Given the description of an element on the screen output the (x, y) to click on. 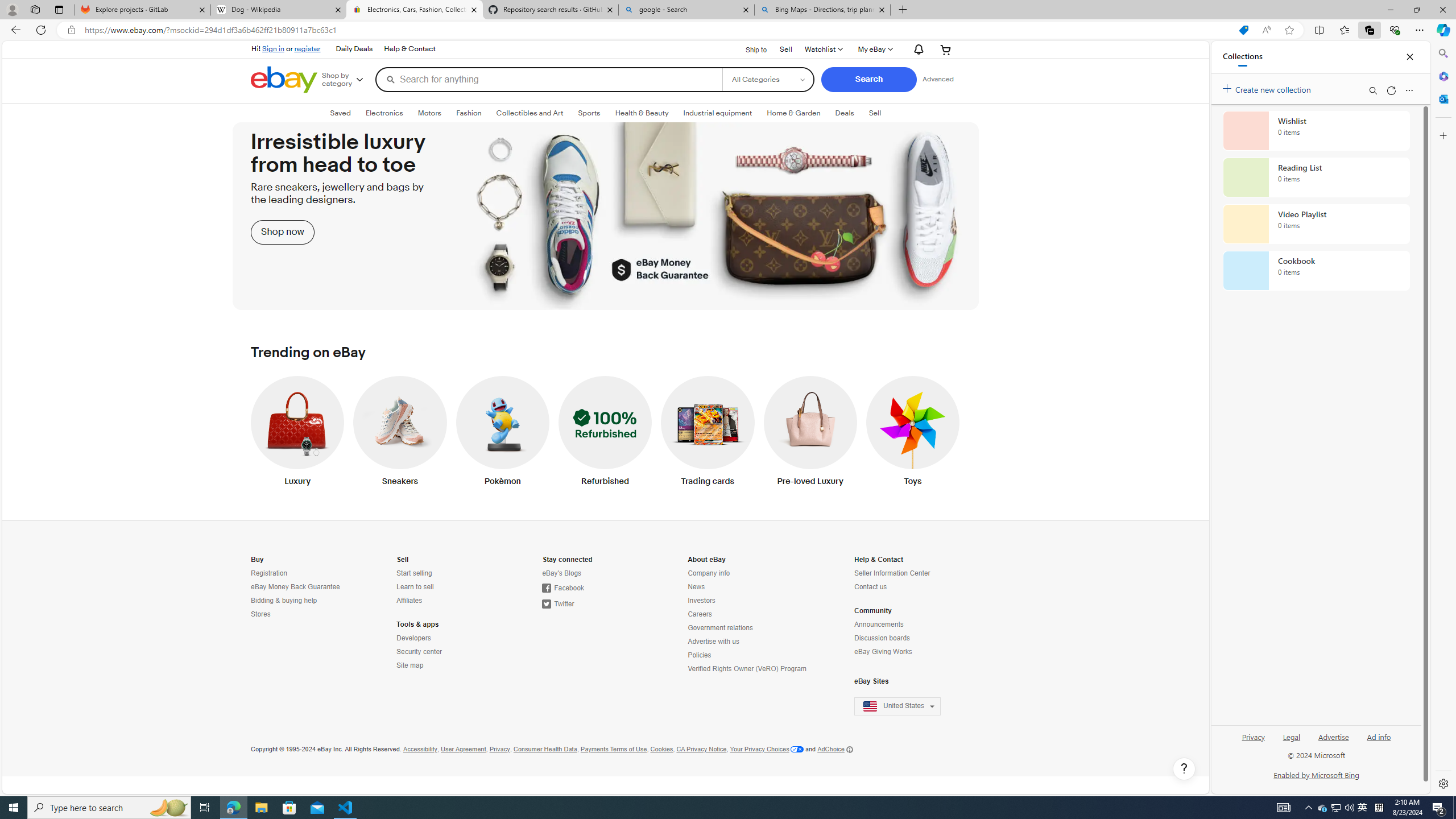
Select a category for search (767, 78)
Help, opens dialogs (1184, 768)
eBay's Blogs (592, 573)
Create new collection (1268, 87)
Discussion boards (882, 638)
Security center (446, 652)
Electronics (384, 112)
Accessibility (419, 749)
Government relations (748, 628)
